Given the description of an element on the screen output the (x, y) to click on. 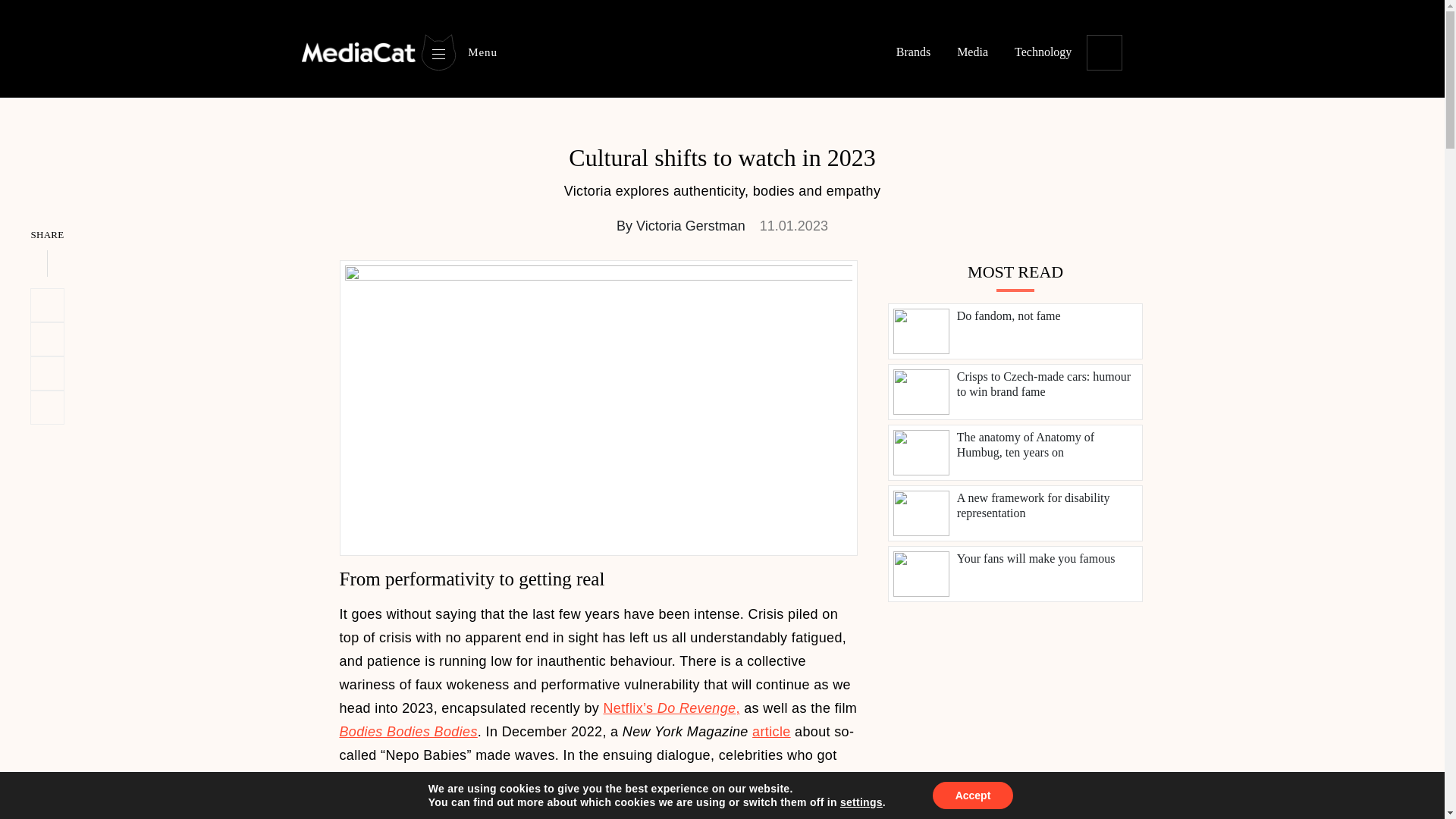
Share on Facebook! (47, 373)
Share via Email! (47, 407)
Tweet this! (47, 305)
Menu (457, 52)
Share on LinkedIn! (47, 339)
